Given the description of an element on the screen output the (x, y) to click on. 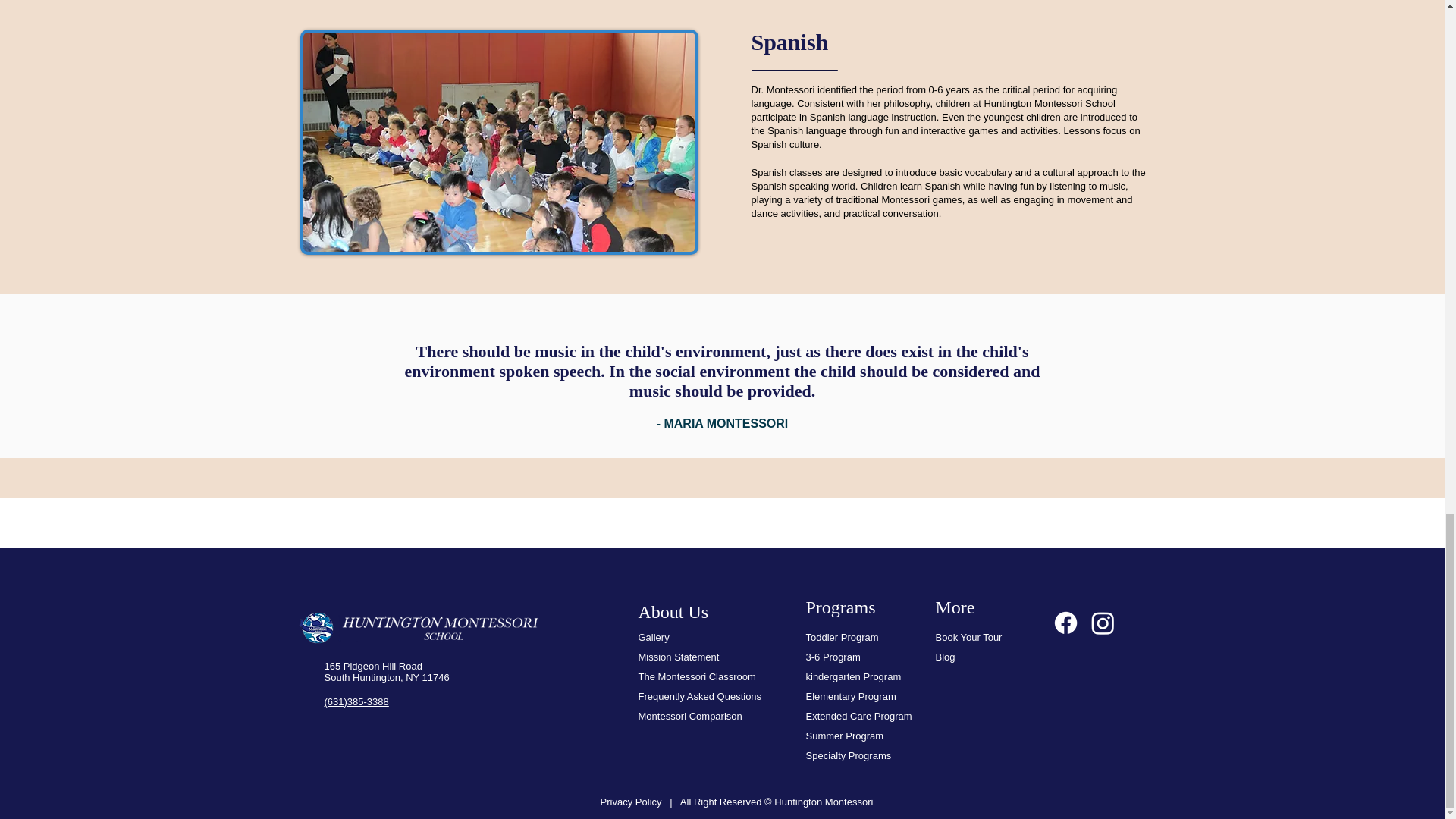
Book Your Tour (969, 636)
Elementary Program  (851, 696)
Frequently Asked Questions (700, 696)
Mission Statement (679, 656)
Toddler Program (841, 636)
Blog (945, 656)
The Montessori Classroom (697, 676)
Specialty Programs (848, 755)
Summer Program  (845, 736)
Gallery  (655, 636)
